Given the description of an element on the screen output the (x, y) to click on. 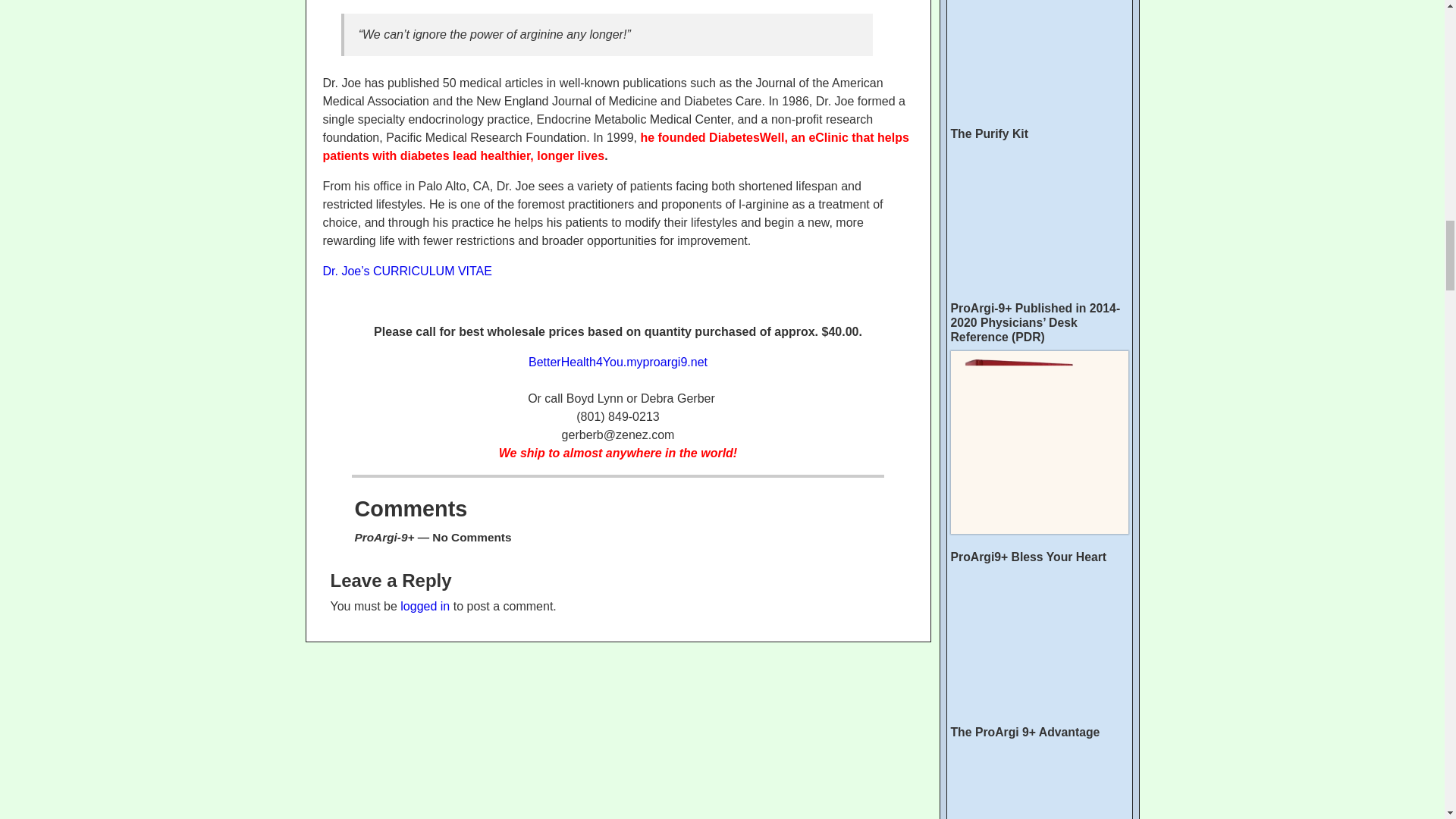
BetterHealth4You.myproargi9.net (617, 361)
Dr. Joe's CURRICULUM VITAE (407, 270)
logged in (424, 605)
